Given the description of an element on the screen output the (x, y) to click on. 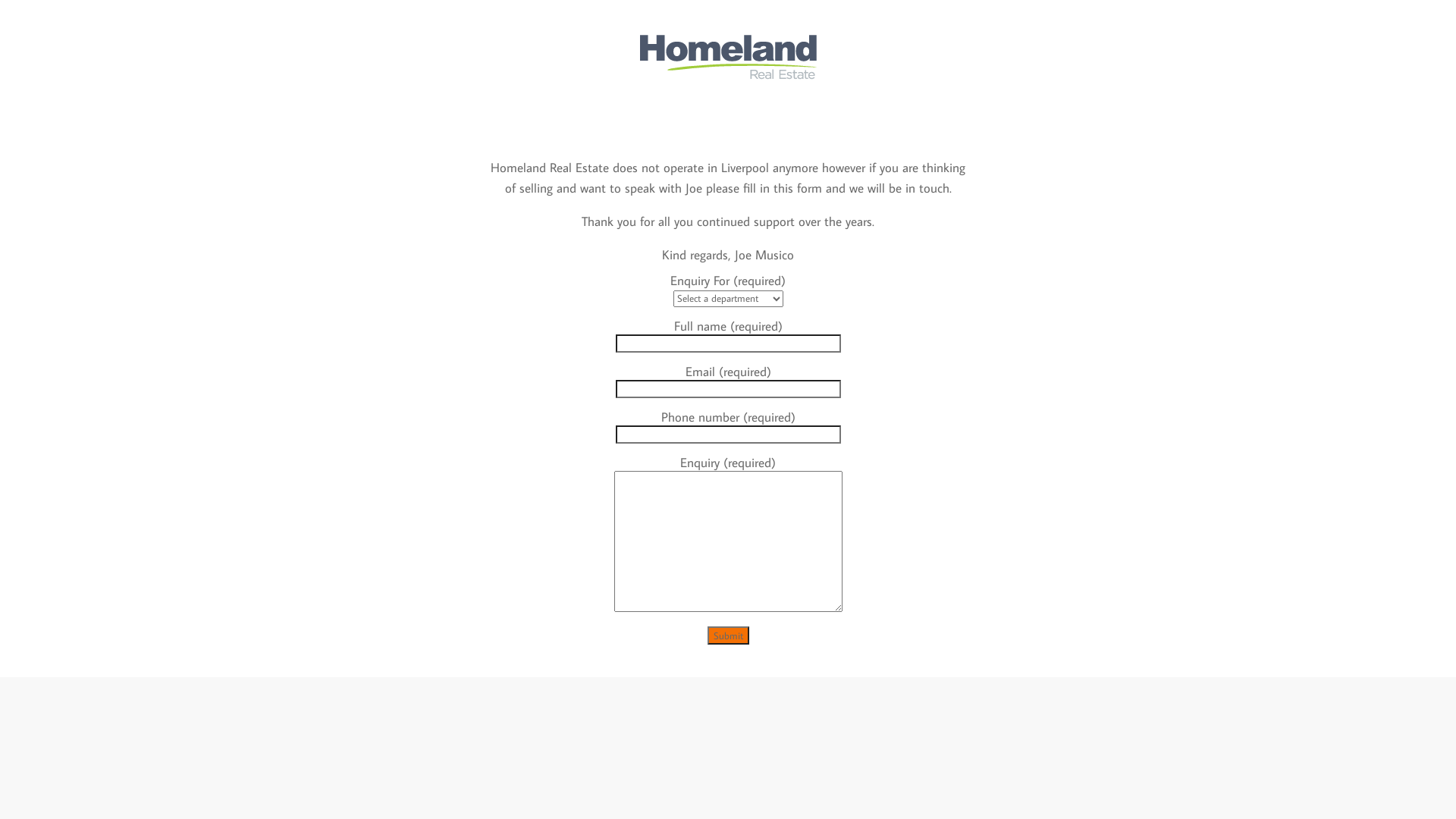
Submit Element type: text (727, 635)
